Given the description of an element on the screen output the (x, y) to click on. 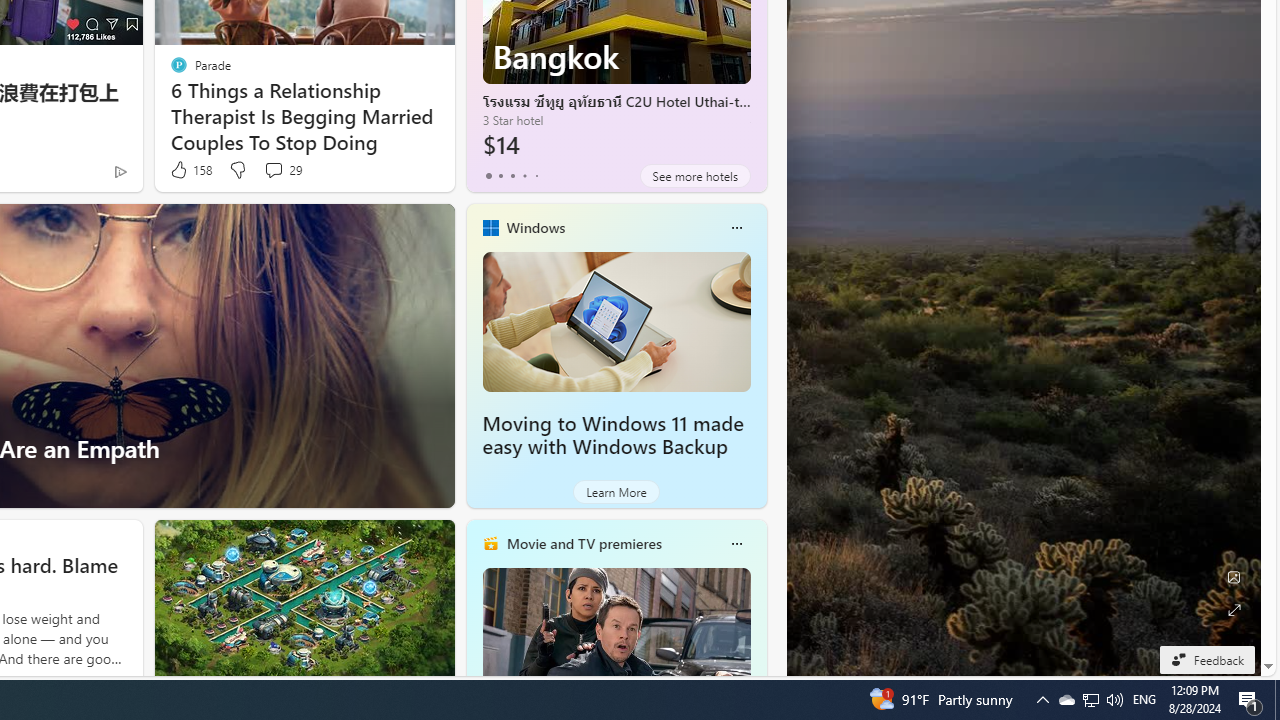
Movie and TV premieres (583, 543)
158 Like (190, 170)
tab-3 (524, 175)
Moving to Windows 11 made easy with Windows Backup (612, 435)
